Given the description of an element on the screen output the (x, y) to click on. 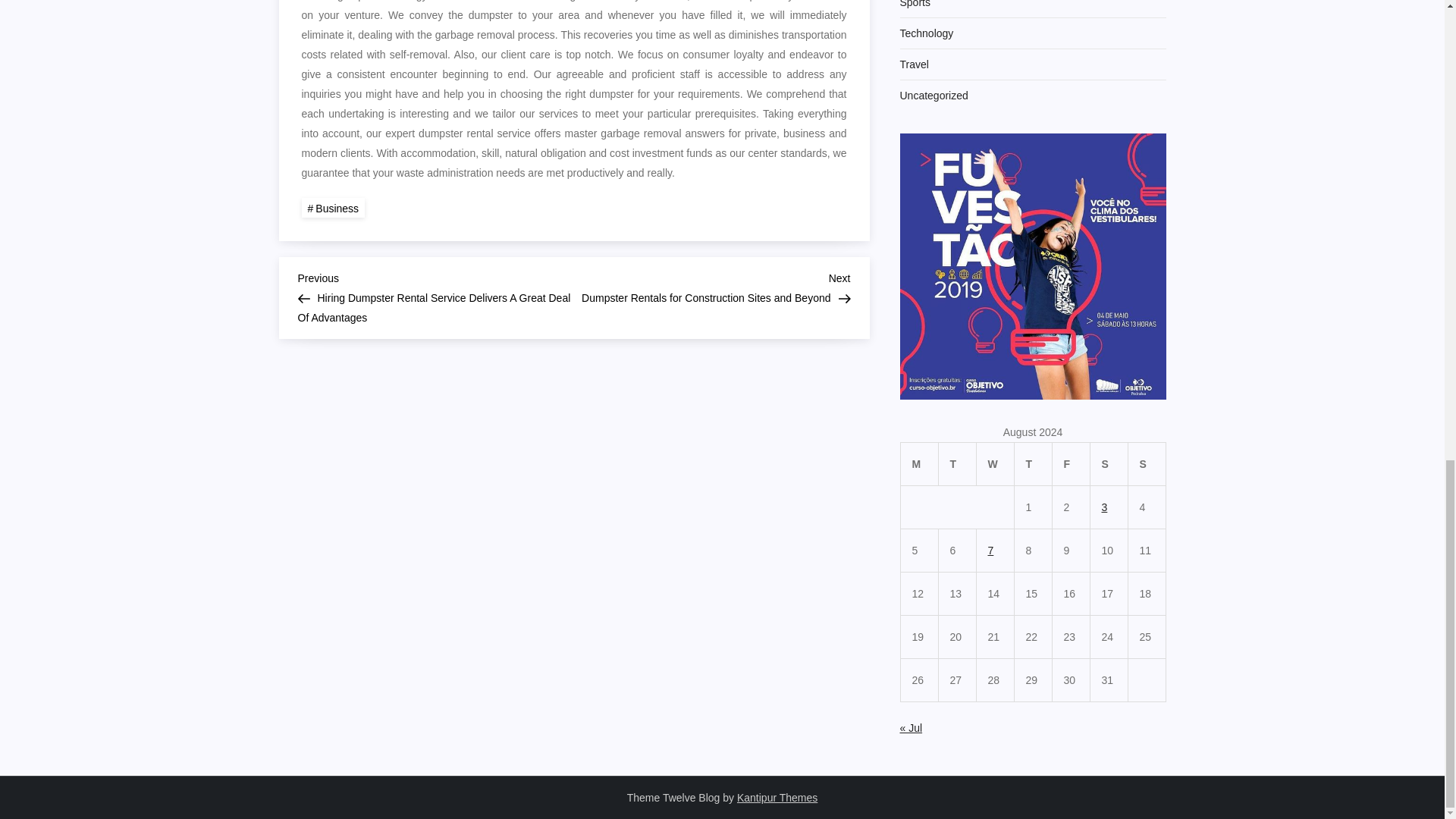
Travel (913, 64)
Uncategorized (933, 95)
Technology (926, 33)
Sports (914, 6)
Business (333, 208)
Kantipur Themes (776, 797)
